Given the description of an element on the screen output the (x, y) to click on. 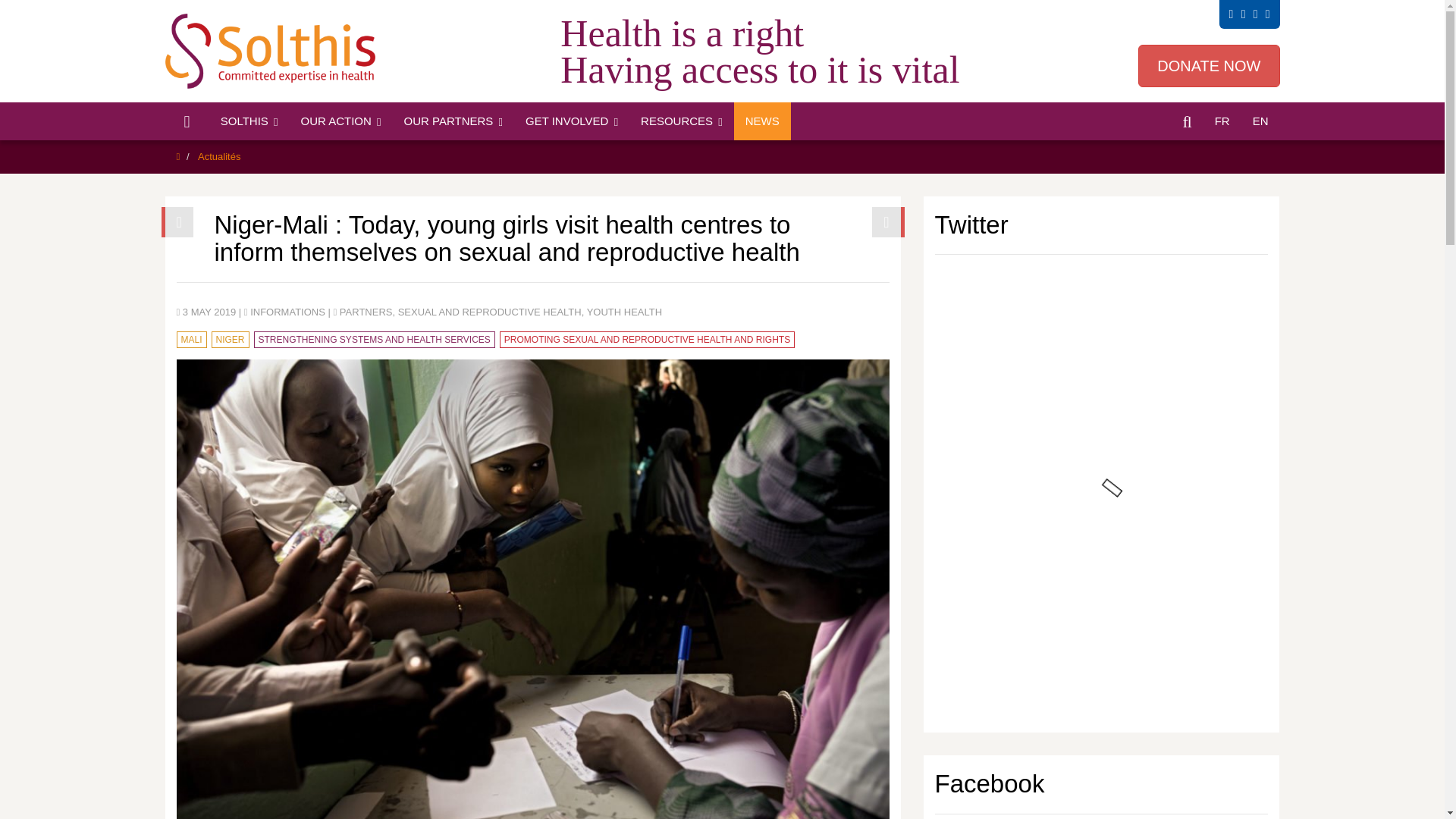
SOLTHIS (249, 121)
SOLTHIS (249, 121)
Donate now (1208, 65)
DONATE NOW (1208, 65)
OUR ACTION (341, 121)
Solthis (276, 51)
Home (187, 121)
